Given the description of an element on the screen output the (x, y) to click on. 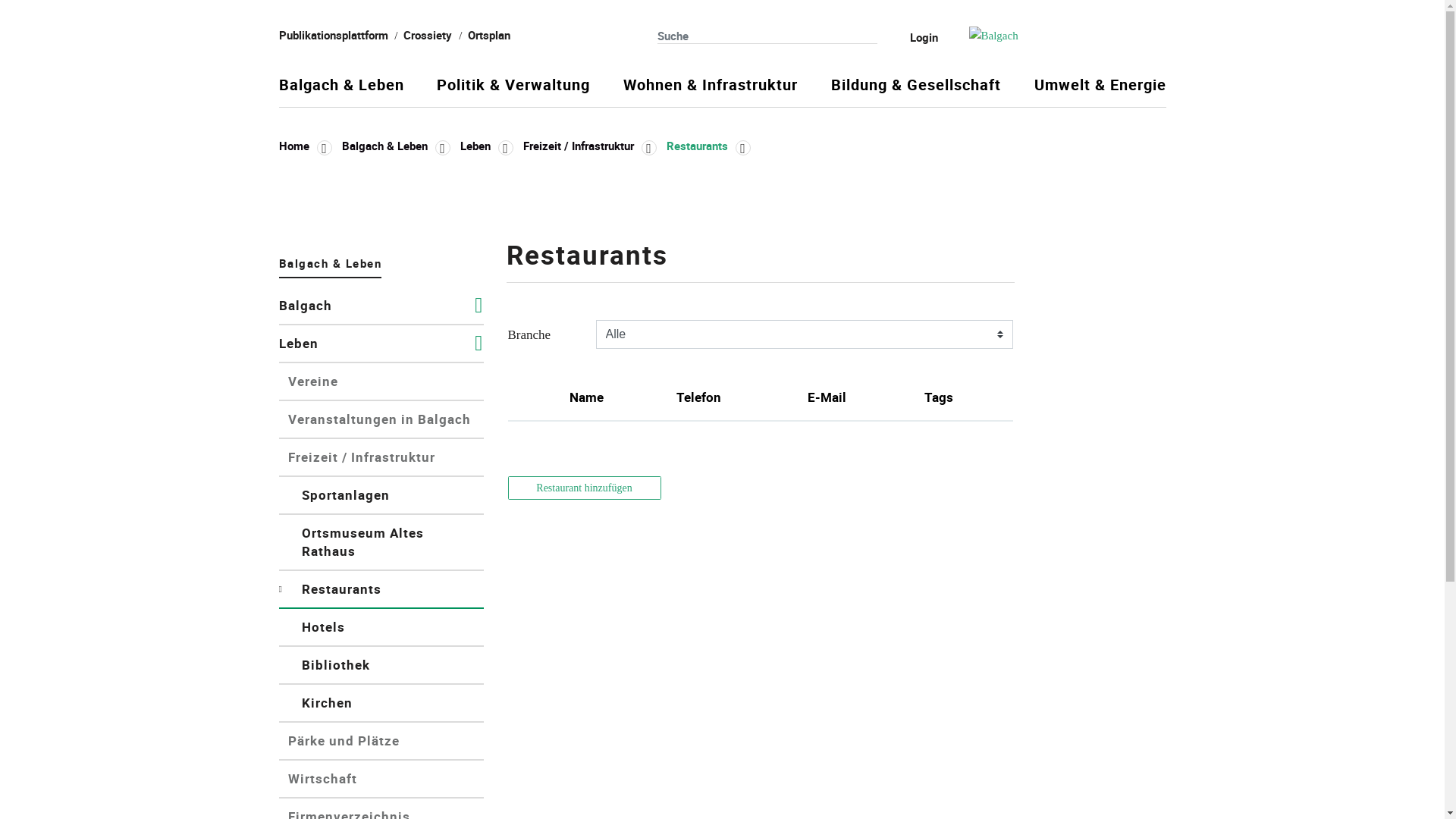
Ortsplan Element type: text (488, 34)
Balgach & Leben Element type: text (341, 90)
Home Element type: text (305, 145)
Balgach Element type: hover (1067, 35)
Leben Element type: text (485, 145)
Leben Element type: text (381, 344)
Bildung & Gesellschaft Element type: text (916, 90)
Ortsmuseum Altes Rathaus Element type: text (381, 542)
Bibliothek Element type: text (381, 665)
Publikationsplattform Element type: text (333, 34)
Freizeit / Infrastruktur Element type: text (381, 457)
Restaurants Element type: text (707, 145)
Umwelt & Energie Element type: text (1100, 90)
Balgach Element type: text (381, 306)
Sportanlagen Element type: text (381, 495)
Balgach & Leben Element type: text (330, 266)
Balgach & Leben Element type: text (395, 145)
Politik & Verwaltung Element type: text (512, 90)
Kirchen Element type: text (381, 703)
Crossiety Element type: text (427, 34)
Wohnen & Infrastruktur Element type: text (710, 90)
Wirtschaft Element type: text (381, 779)
Veranstaltungen in Balgach Element type: text (381, 420)
Suche Element type: text (868, 35)
Freizeit / Infrastruktur Element type: text (589, 145)
Vereine Element type: text (381, 382)
Hotels Element type: text (381, 627)
Login Element type: text (913, 36)
